Given the description of an element on the screen output the (x, y) to click on. 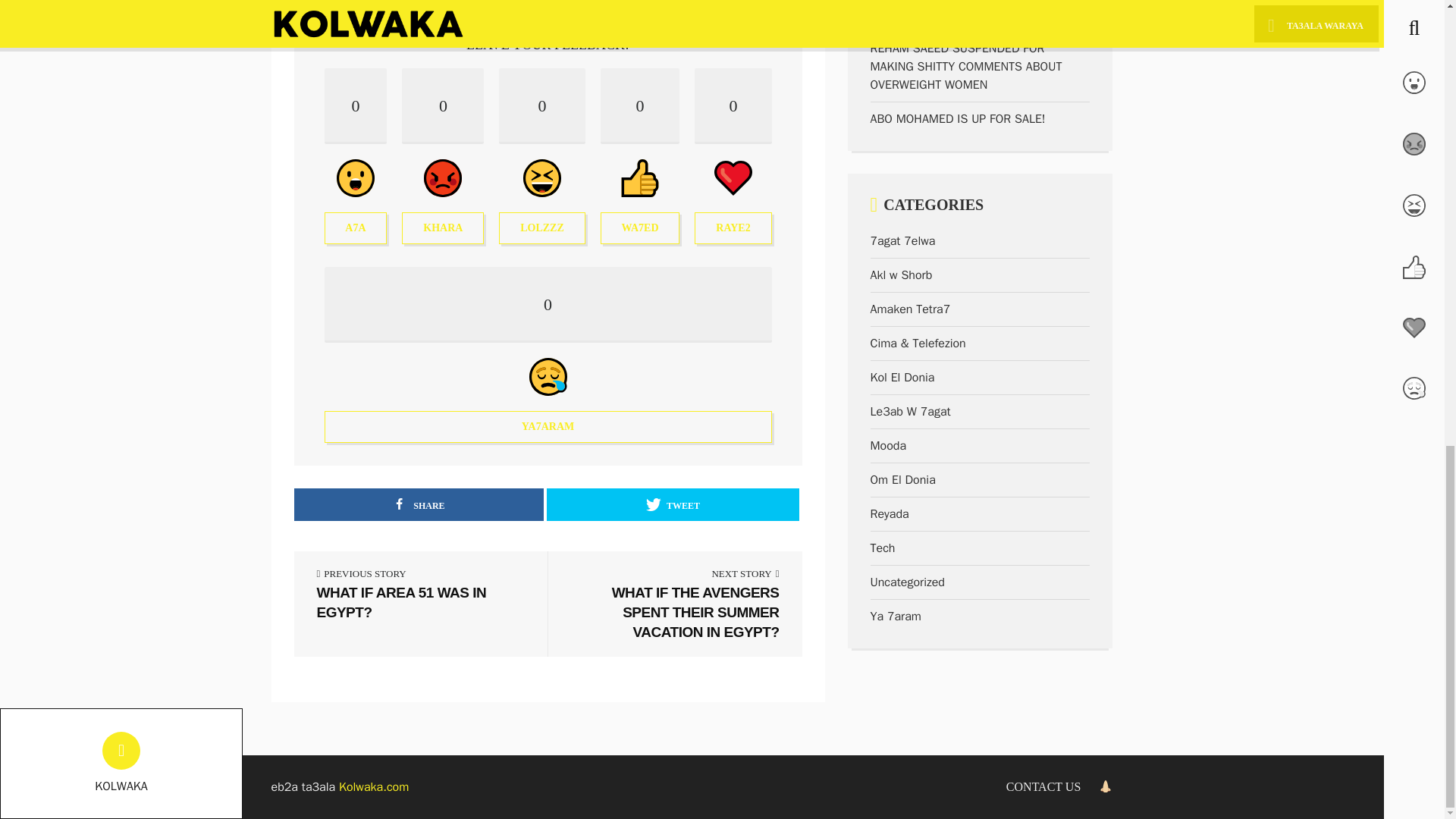
SHARE (419, 504)
TWEET (542, 155)
WHAT IF THE AVENGERS SPENT THEIR SUMMER VACATION IN EGYPT? (639, 155)
WHAT IF AREA 51 WAS IN EGYPT? (442, 155)
